Given the description of an element on the screen output the (x, y) to click on. 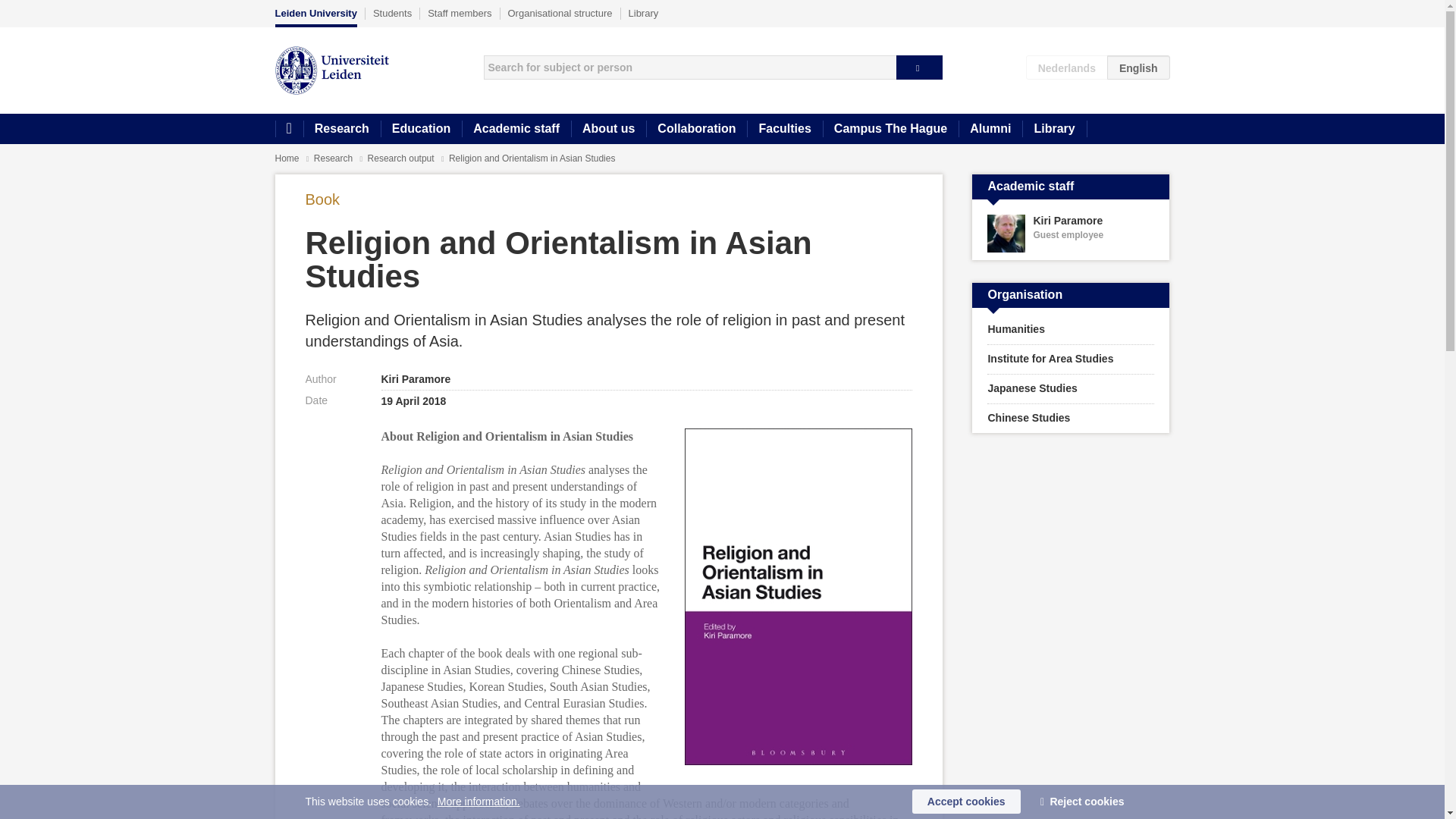
Library (1054, 128)
Collaboration (696, 128)
Organisational structure (560, 13)
Staff members (460, 13)
Alumni (1070, 233)
Research output (990, 128)
Research (402, 158)
Leiden University (334, 158)
Library (315, 17)
